Given the description of an element on the screen output the (x, y) to click on. 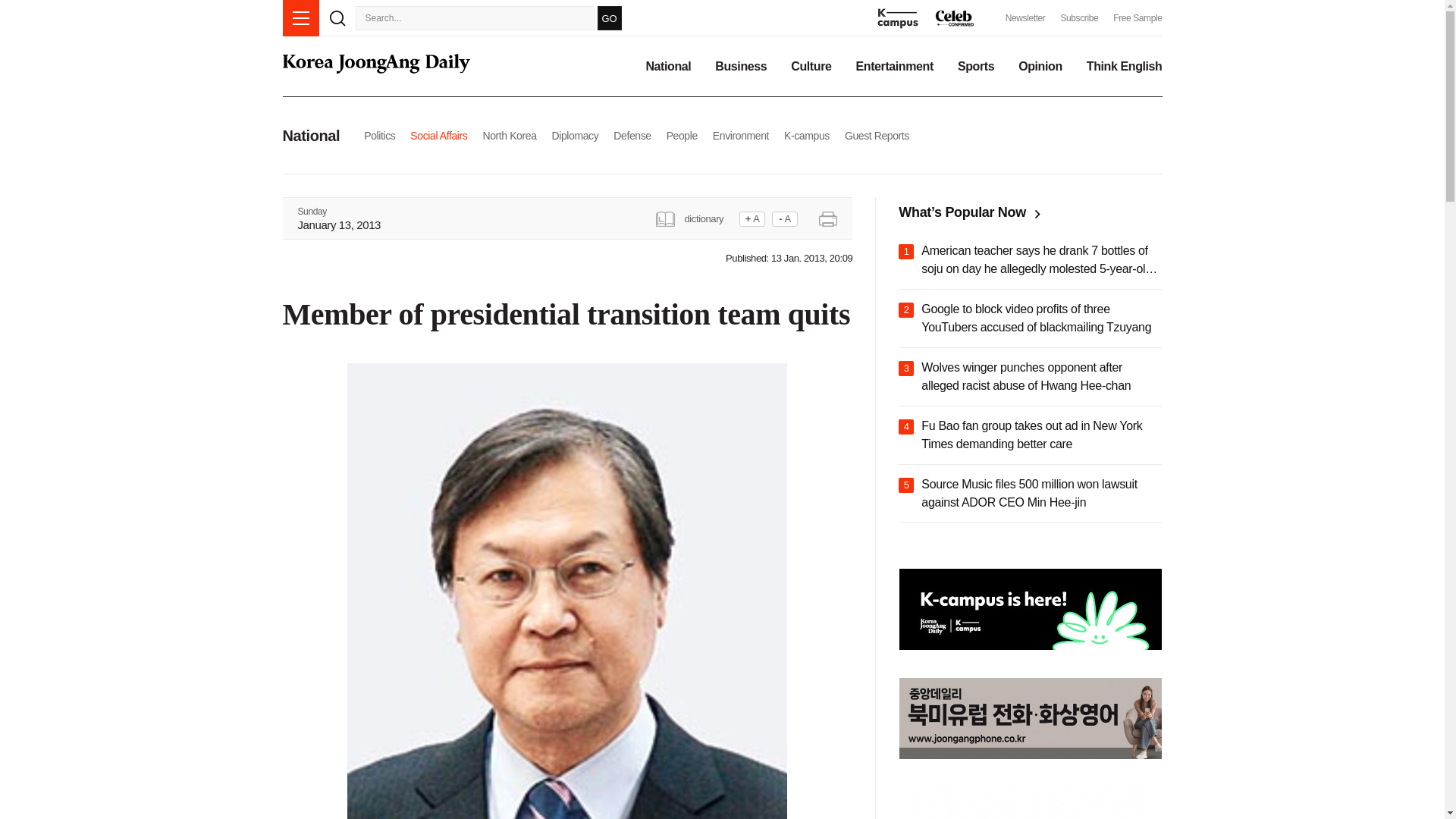
North Korea (508, 135)
People (681, 135)
National (667, 66)
Think English (1123, 66)
K-campus (806, 135)
Social Affairs (438, 135)
Social Affairs (438, 135)
Politics (379, 135)
Business (740, 66)
Politics (379, 135)
Sports (976, 66)
Defense (631, 135)
Environment (740, 135)
Opinion (1039, 66)
Guest Reports (876, 135)
